Given the description of an element on the screen output the (x, y) to click on. 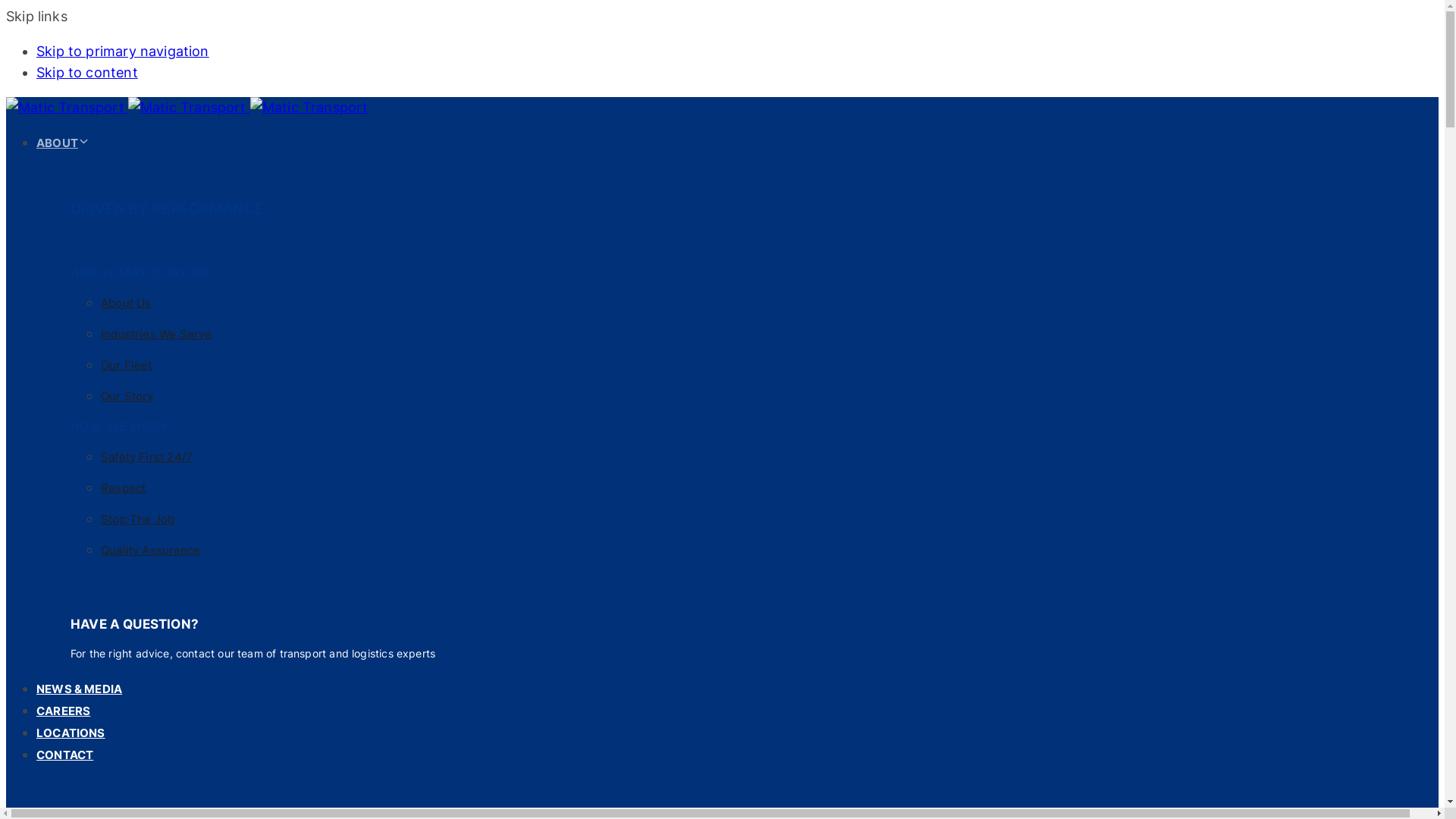
NEWS & MEDIA Element type: text (79, 688)
Respect Element type: text (122, 487)
Skip to primary navigation Element type: text (122, 51)
ABOUT Element type: text (62, 142)
Safety First 24/7 Element type: text (146, 456)
Our Story Element type: text (126, 396)
Our Fleet Element type: text (126, 364)
Stop The Job Element type: text (137, 518)
CAREERS Element type: text (63, 710)
CONTACT Element type: text (64, 754)
Skip to content Element type: text (87, 72)
LOCATIONS Element type: text (70, 732)
Quality Assurance Element type: text (150, 549)
Industries We Serve Element type: text (155, 333)
About Us Element type: text (125, 302)
